Given the description of an element on the screen output the (x, y) to click on. 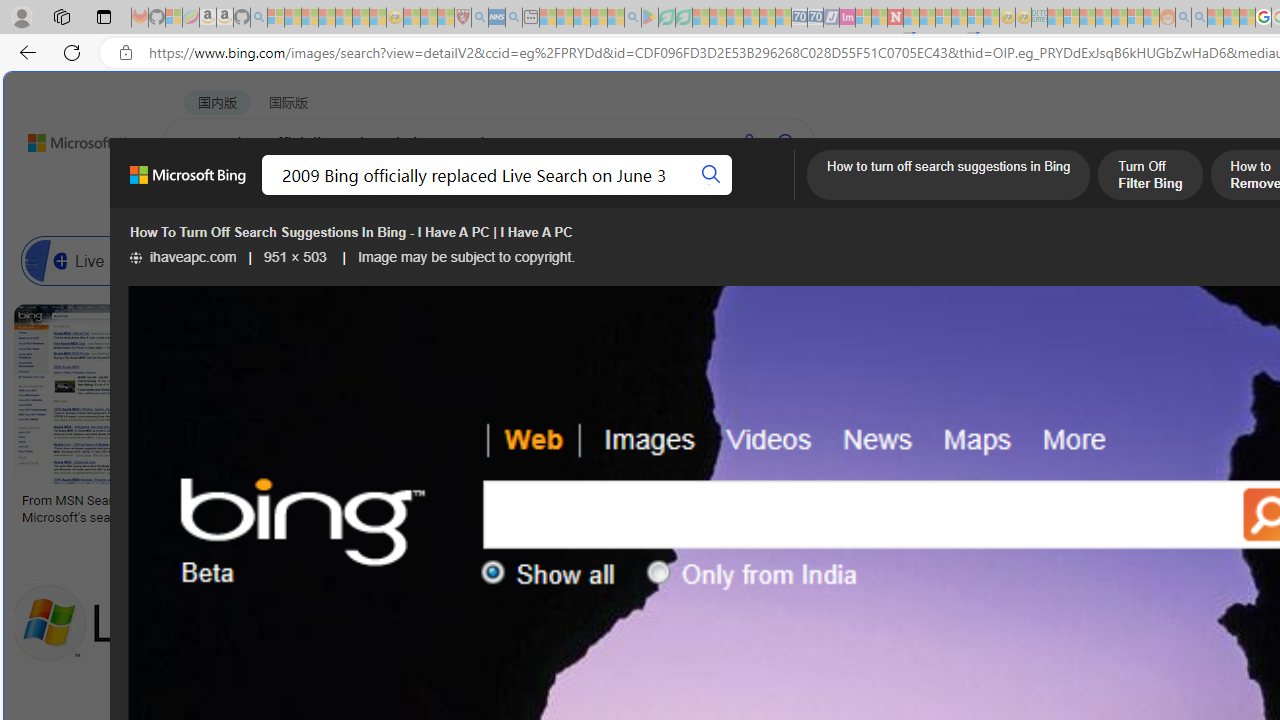
Search using voice (748, 142)
Microsoft Live Logo (598, 500)
New Report Confirms 2023 Was Record Hot | Watch - Sleeping (343, 17)
Latest Politics News & Archive | Newsweek.com - Sleeping (895, 17)
WEB (201, 195)
Class: b_pri_nav_svg (423, 196)
Class: item col (943, 260)
